Given the description of an element on the screen output the (x, y) to click on. 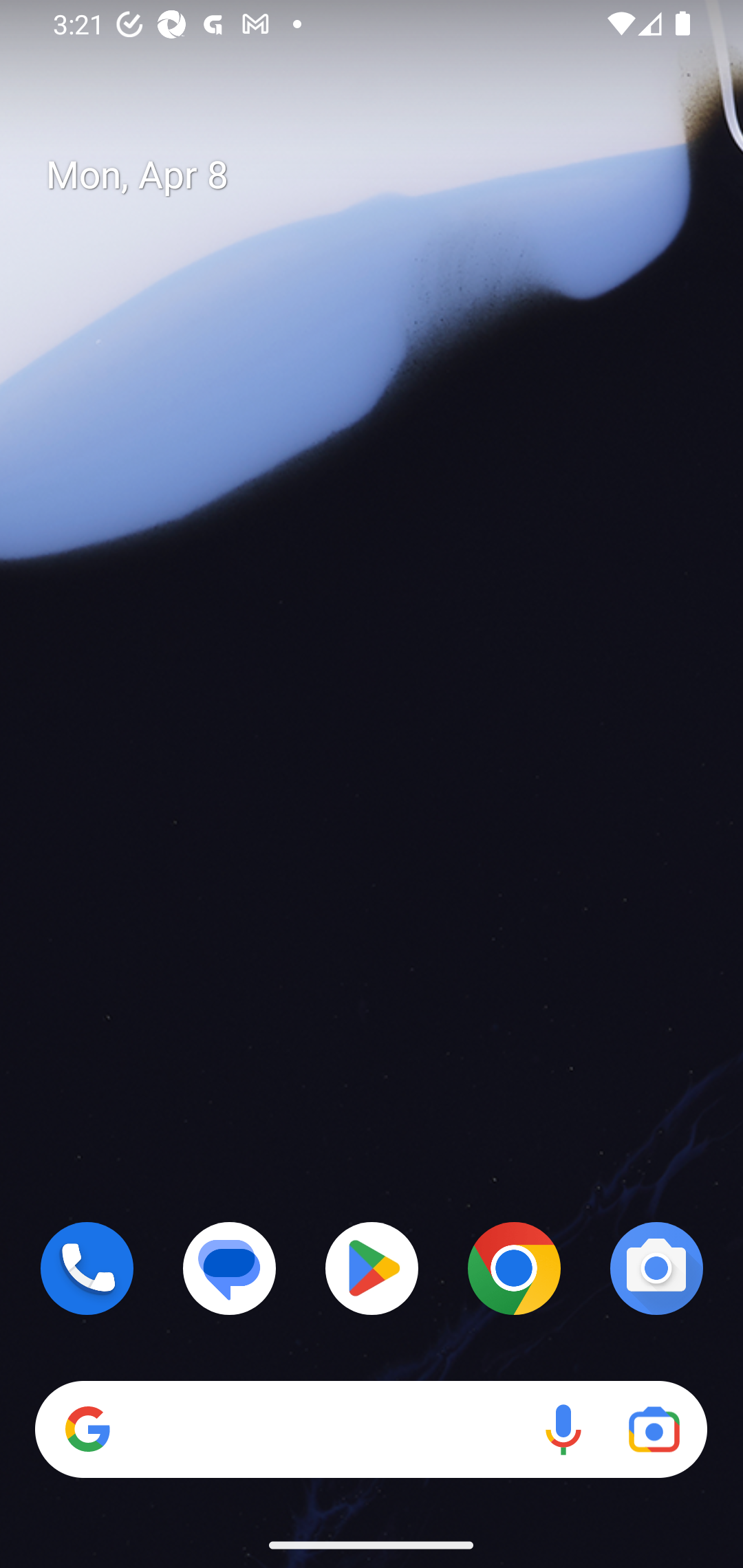
Mon, Apr 8 (386, 175)
Phone (86, 1268)
Messages (229, 1268)
Play Store (371, 1268)
Chrome (513, 1268)
Camera (656, 1268)
Search Voice search Google Lens (370, 1429)
Voice search (562, 1429)
Google Lens (653, 1429)
